Given the description of an element on the screen output the (x, y) to click on. 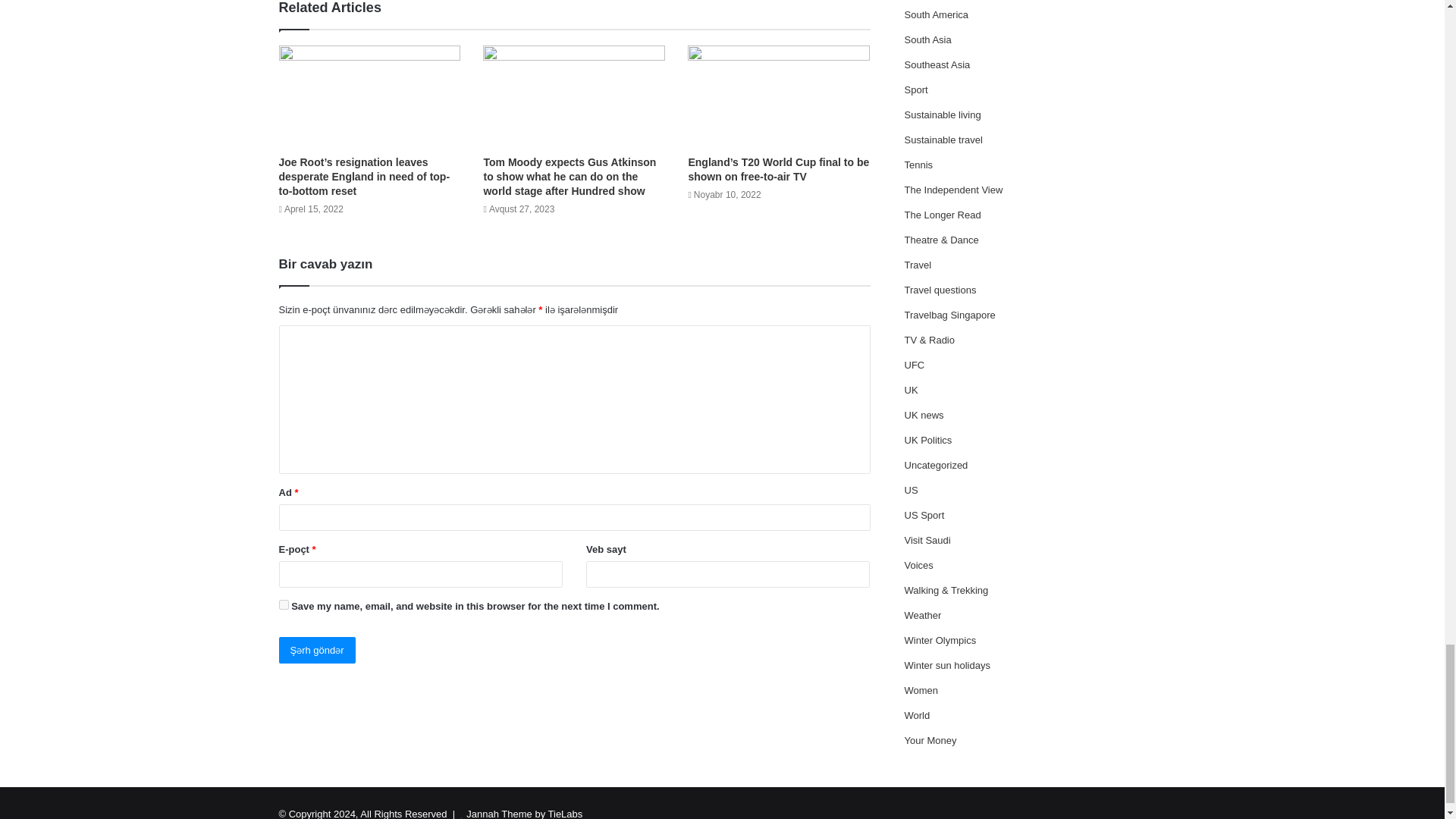
yes (283, 604)
